Given the description of an element on the screen output the (x, y) to click on. 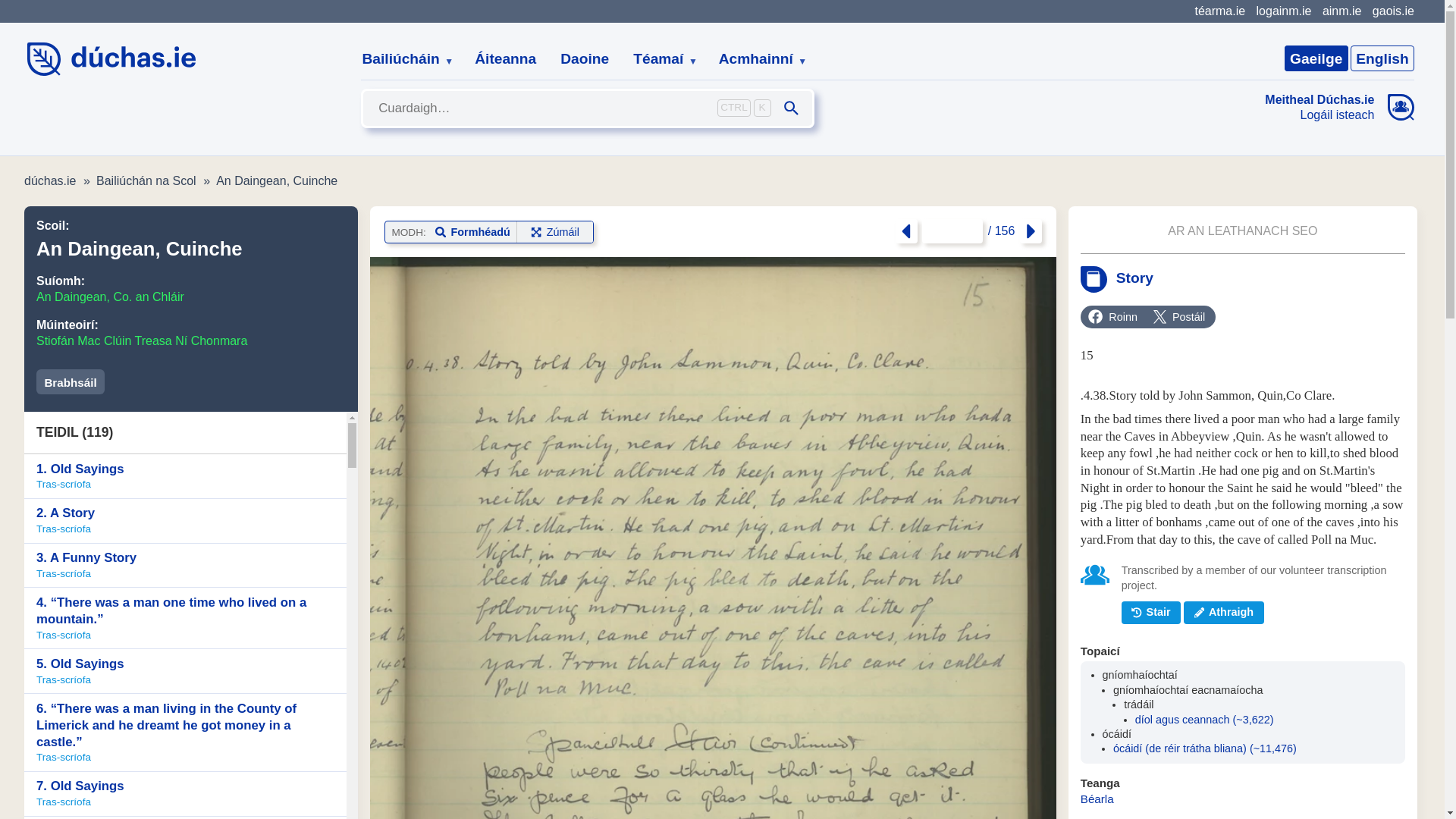
ainm.ie (1341, 11)
gaois.ie (1393, 11)
Gaeilge (1316, 58)
Daoine (584, 58)
English (1382, 58)
An Daingean, Cuinche (276, 180)
logainm.ie (1283, 11)
